Given the description of an element on the screen output the (x, y) to click on. 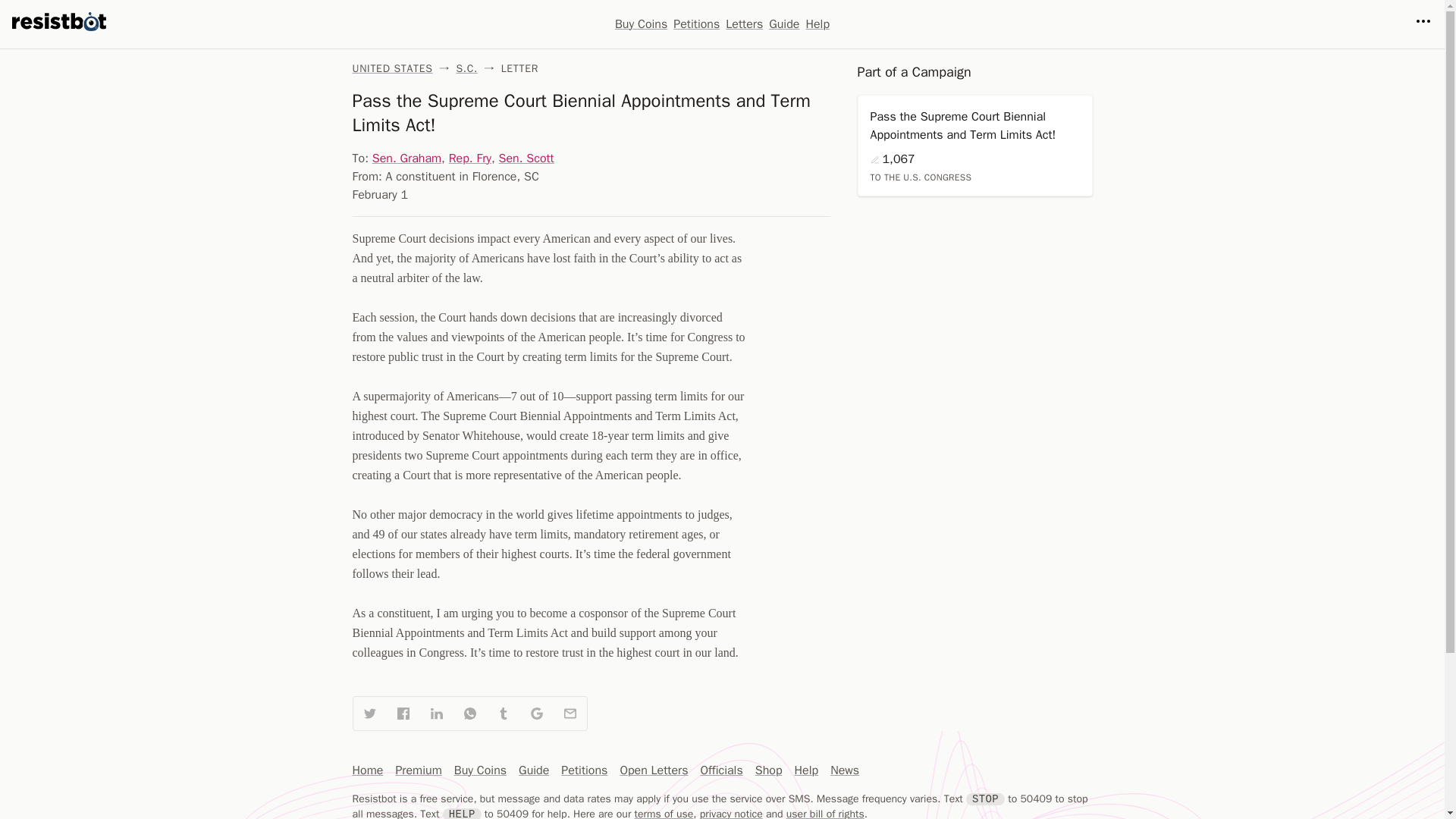
Letters (743, 24)
privacy notice (731, 813)
user bill of rights (825, 813)
Signers (874, 159)
Open Letters (653, 770)
Sen. Graham (406, 158)
News (844, 770)
Officials (721, 770)
Buy Coins (480, 770)
S.C. (466, 68)
Home (367, 770)
UNITED STATES (392, 68)
Help (817, 24)
Guide (533, 770)
Sen. Scott (526, 158)
